Given the description of an element on the screen output the (x, y) to click on. 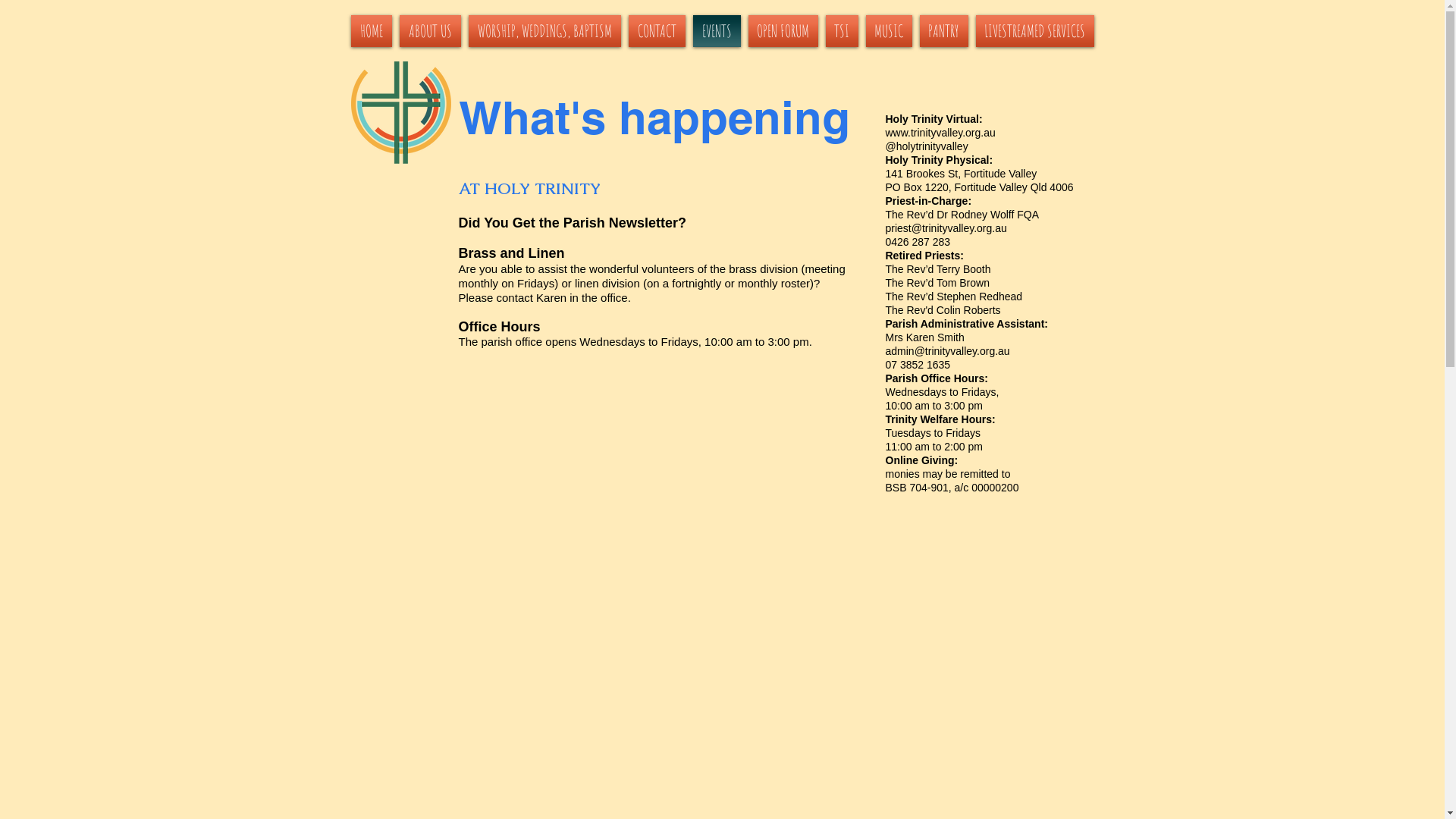
LIVESTREAMED SERVICES Element type: text (1033, 31)
admin@trinityvalley.org.au Element type: text (947, 351)
PANTRY Element type: text (944, 31)
ABOUT US Element type: text (429, 31)
OPEN FORUM Element type: text (783, 31)
priest@trinityvalley.org.au Element type: text (946, 228)
TSI Element type: text (842, 31)
MUSIC Element type: text (888, 31)
EVENTS Element type: text (715, 31)
www.trinityvalley.org.au Element type: text (940, 132)
CONTACT Element type: text (656, 31)
WORSHIP, WEDDINGS, BAPTISM Element type: text (544, 31)
HOME Element type: text (372, 31)
